Given the description of an element on the screen output the (x, y) to click on. 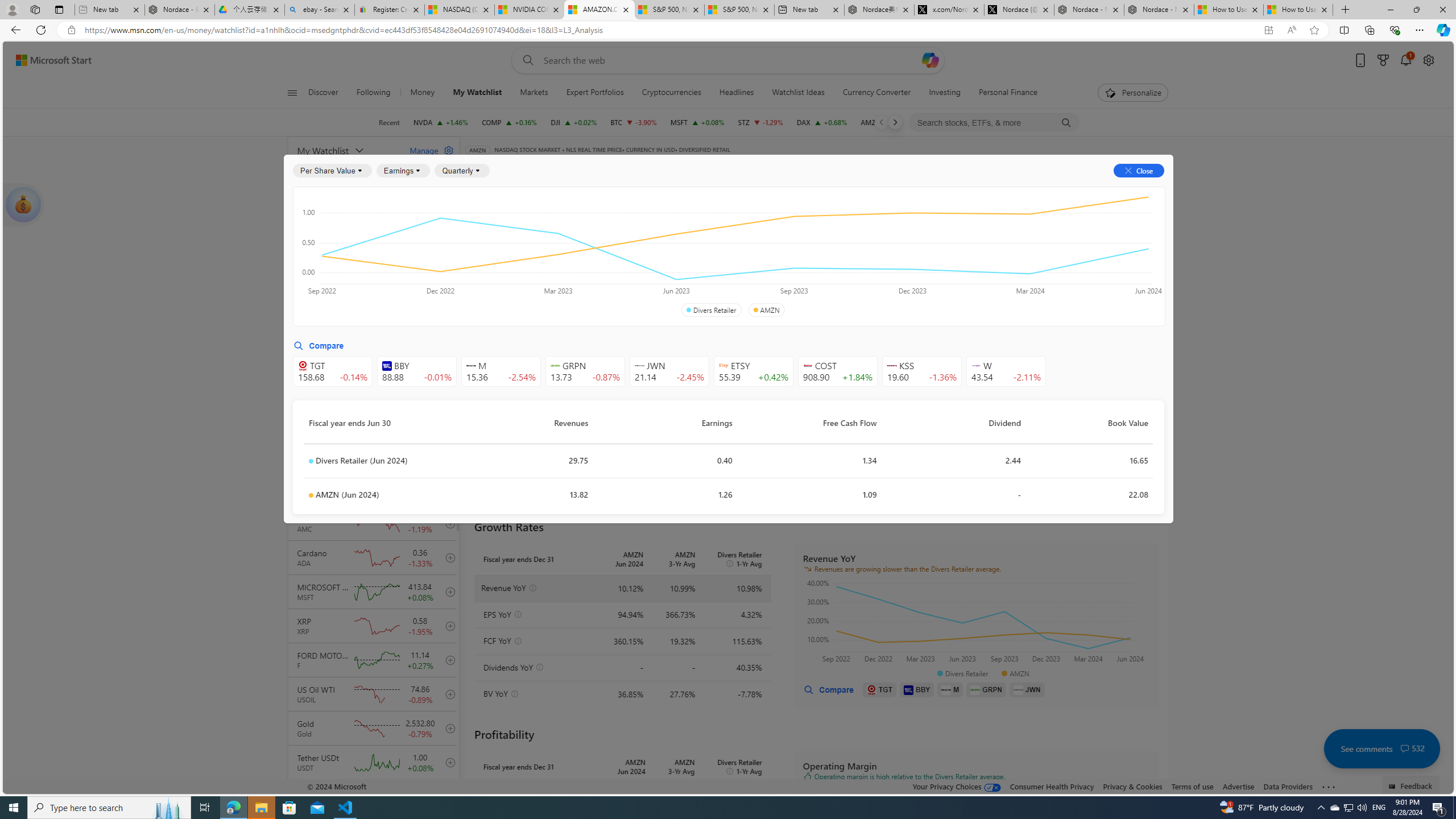
Key Ratios (493, 223)
See more (1328, 787)
Expert Portfolios (594, 92)
S&P 500, Nasdaq end lower, weighed by Nvidia dip | Watch (738, 9)
Compare (722, 166)
All (479, 253)
Following (373, 92)
Data Providers (1288, 786)
Cash Flow (663, 223)
Workspaces (34, 9)
Privacy & Cookies (1131, 785)
